Given the description of an element on the screen output the (x, y) to click on. 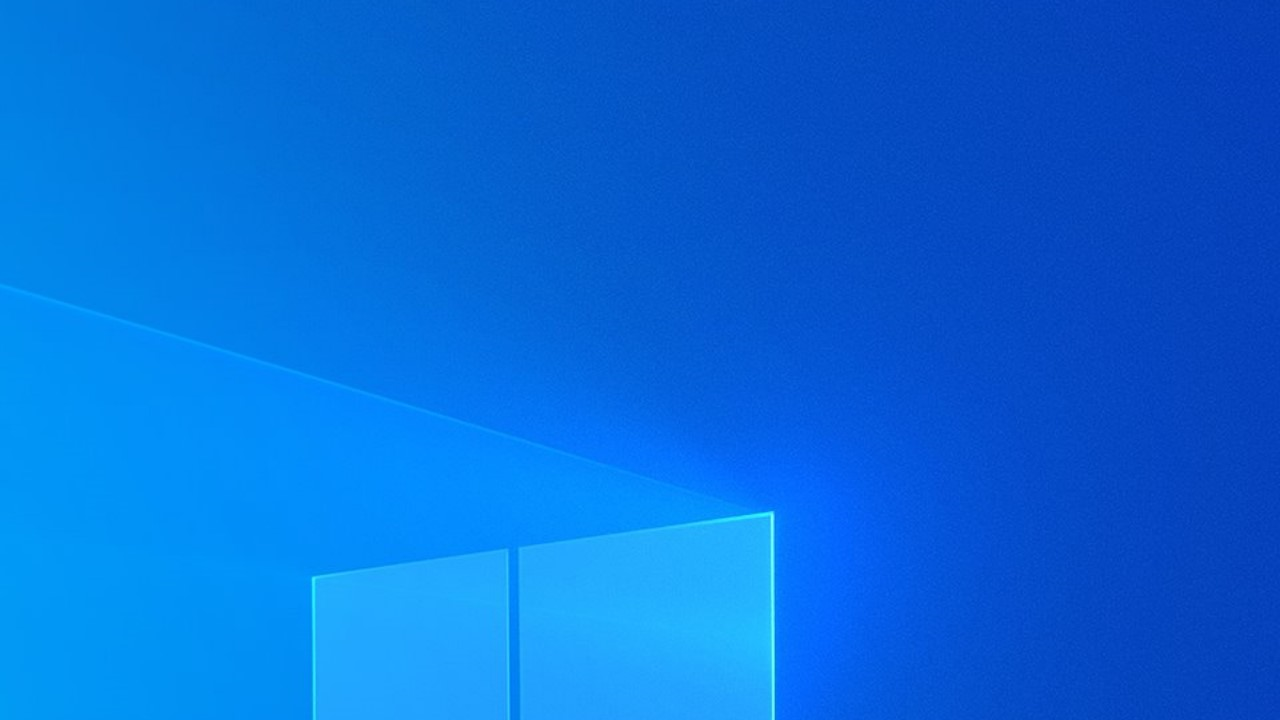
Book Title (575, 100)
Strong (216, 100)
Select (754, 124)
Emphasis (71, 100)
Intense Quote (359, 100)
